Given the description of an element on the screen output the (x, y) to click on. 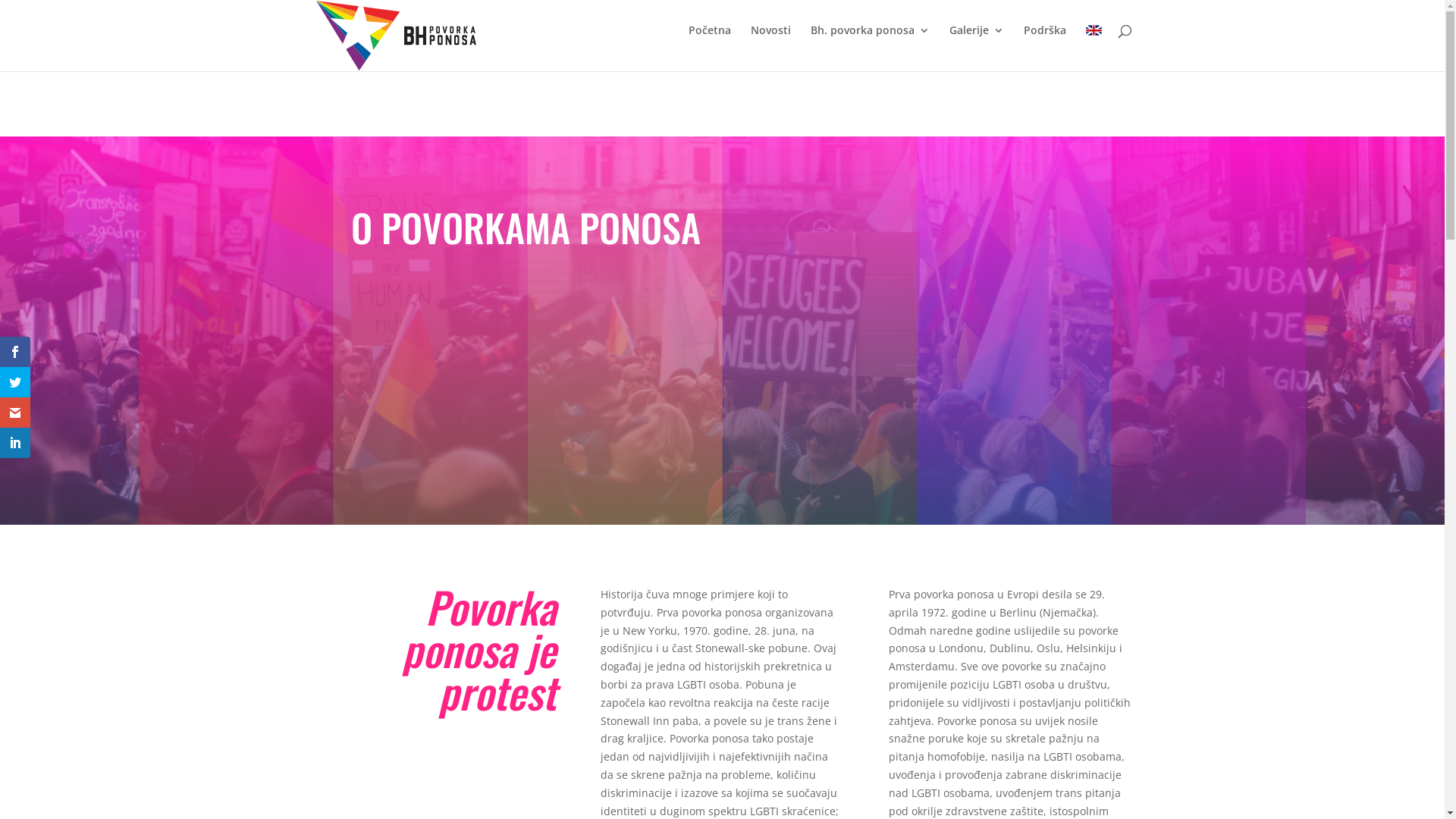
Bh. povorka ponosa Element type: text (868, 42)
Galerije Element type: text (976, 42)
Novosti Element type: text (770, 42)
